Given the description of an element on the screen output the (x, y) to click on. 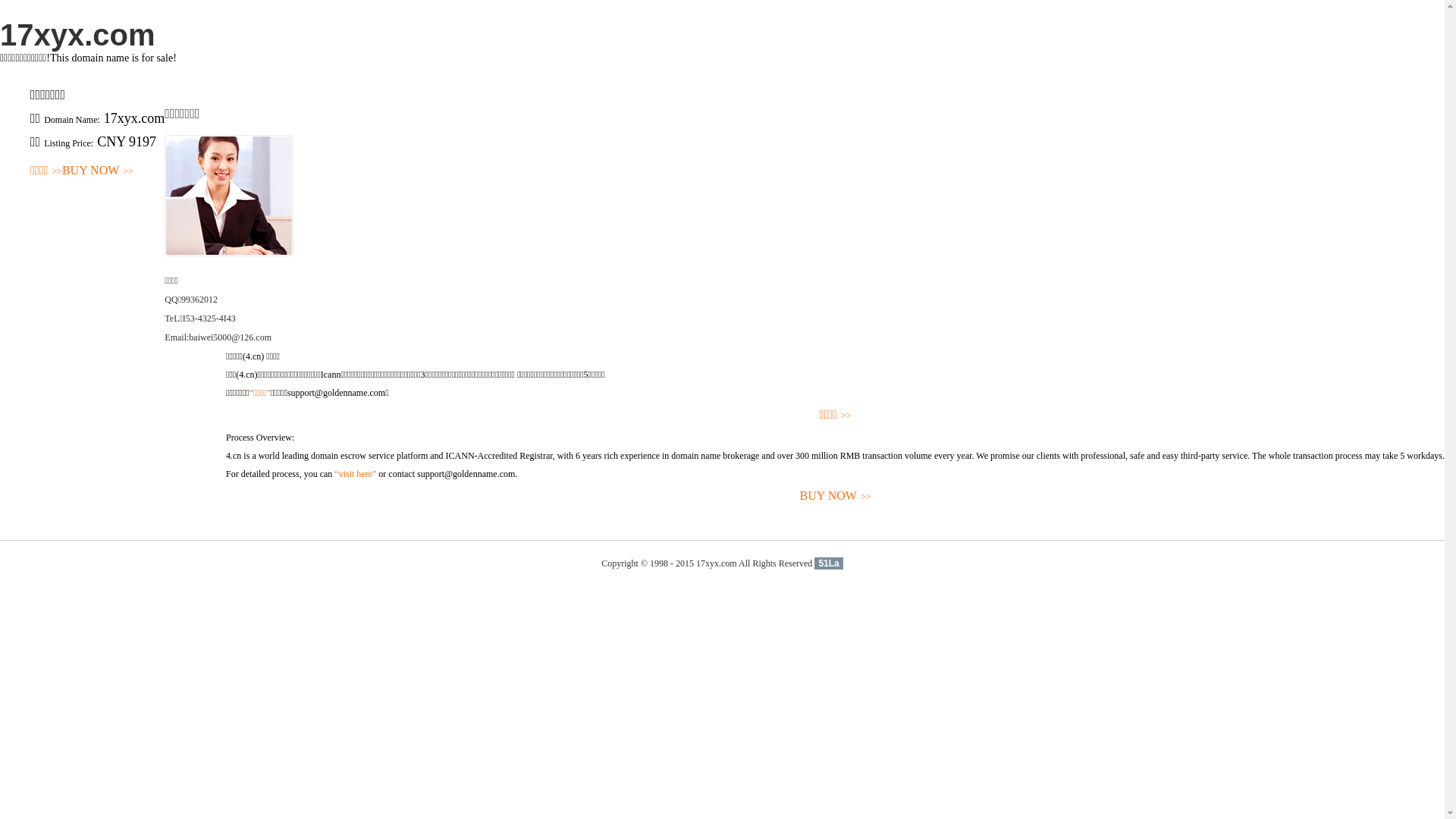
BUY NOW>> Element type: text (97, 170)
BUY NOW>> Element type: text (834, 496)
51La Element type: text (828, 563)
